Given the description of an element on the screen output the (x, y) to click on. 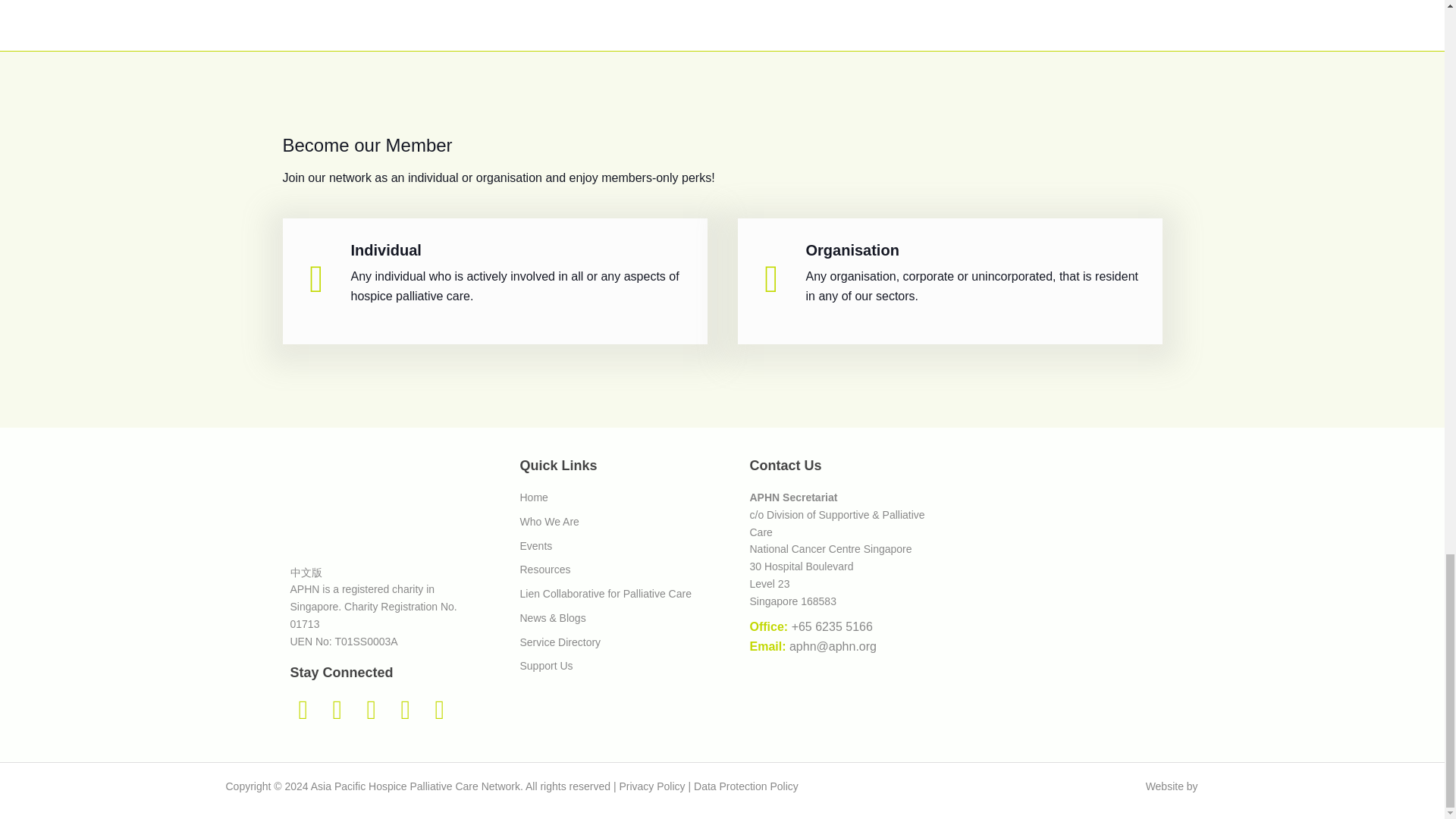
CTA Logo-2 (1066, 674)
Life-Asked-Death (1066, 523)
aphn green black logo (323, 499)
